Given the description of an element on the screen output the (x, y) to click on. 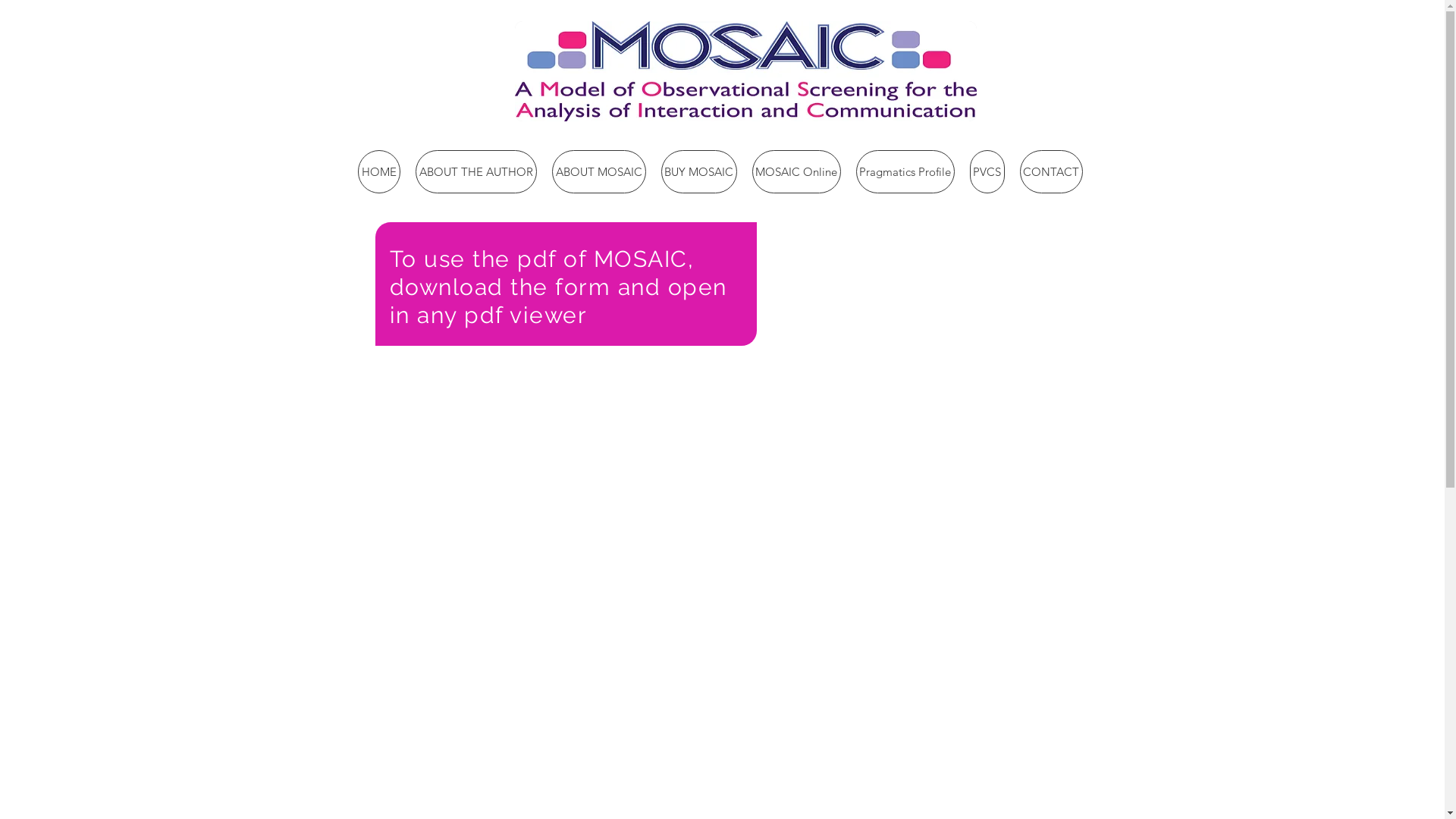
MOSAIC Andy Smidt Element type: hover (744, 71)
CONTACT Element type: text (1050, 171)
Pragmatics Profile Element type: text (904, 171)
PVCS Element type: text (986, 171)
HOME Element type: text (378, 171)
BUY MOSAIC Element type: text (699, 171)
ABOUT MOSAIC Element type: text (599, 171)
MOSAIC Online Element type: text (796, 171)
ABOUT THE AUTHOR Element type: text (475, 171)
